Given the description of an element on the screen output the (x, y) to click on. 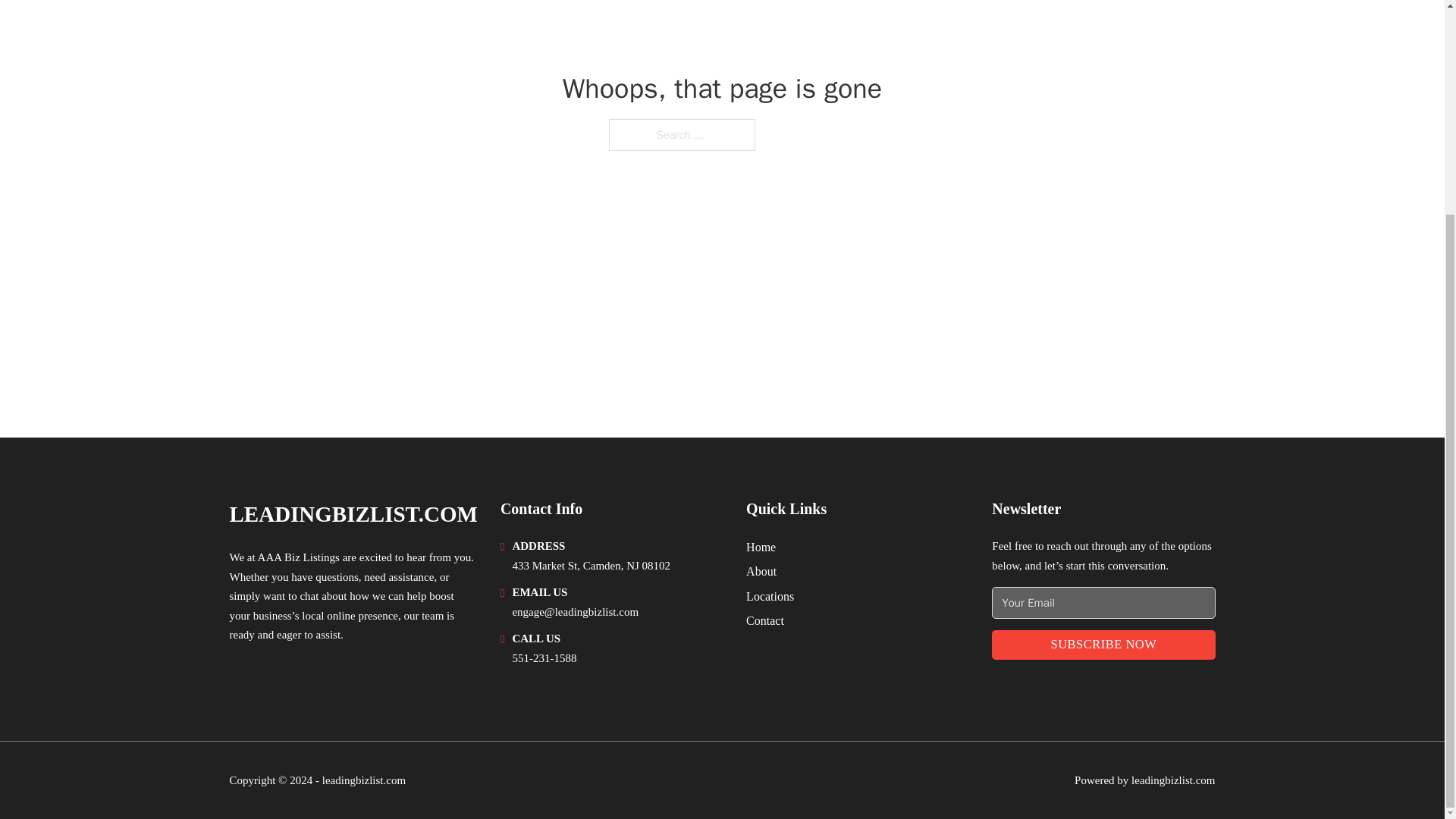
SUBSCRIBE NOW (1102, 644)
Contact (764, 620)
Home (760, 547)
551-231-1588 (544, 657)
About (760, 571)
LEADINGBIZLIST.COM (352, 514)
Locations (769, 596)
